Given the description of an element on the screen output the (x, y) to click on. 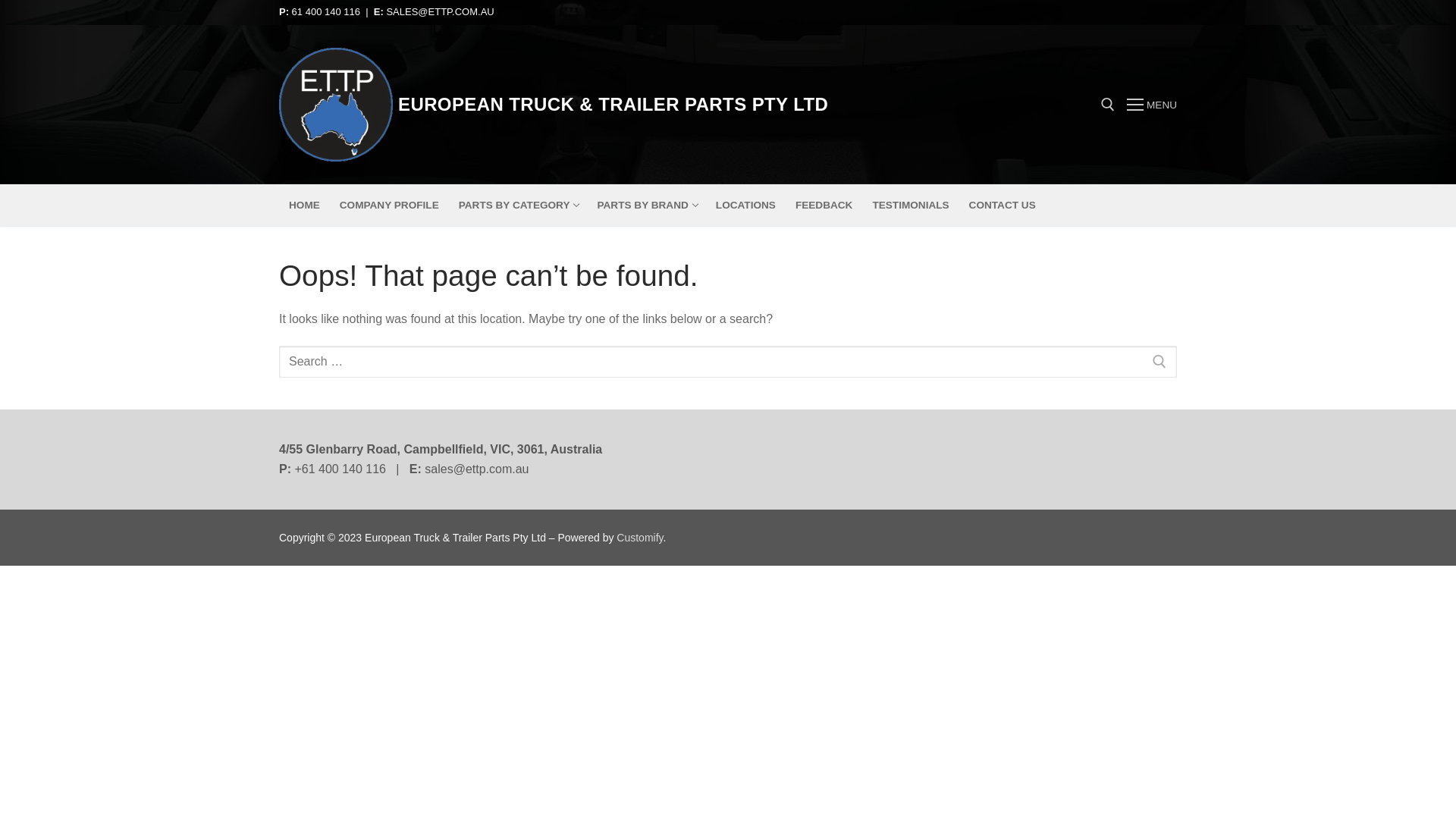
MENU Element type: text (1151, 104)
HOME Element type: text (304, 205)
LOCATIONS Element type: text (745, 205)
PARTS BY BRAND
  Element type: text (645, 205)
Customify Element type: text (639, 537)
CONTACT US Element type: text (1002, 205)
PARTS BY CATEGORY
  Element type: text (517, 205)
COMPANY PROFILE Element type: text (388, 205)
EUROPEAN TRUCK & TRAILER PARTS PTY LTD Element type: text (613, 104)
Search for: Element type: hover (727, 361)
FEEDBACK Element type: text (823, 205)
TESTIMONIALS Element type: text (910, 205)
